Given the description of an element on the screen output the (x, y) to click on. 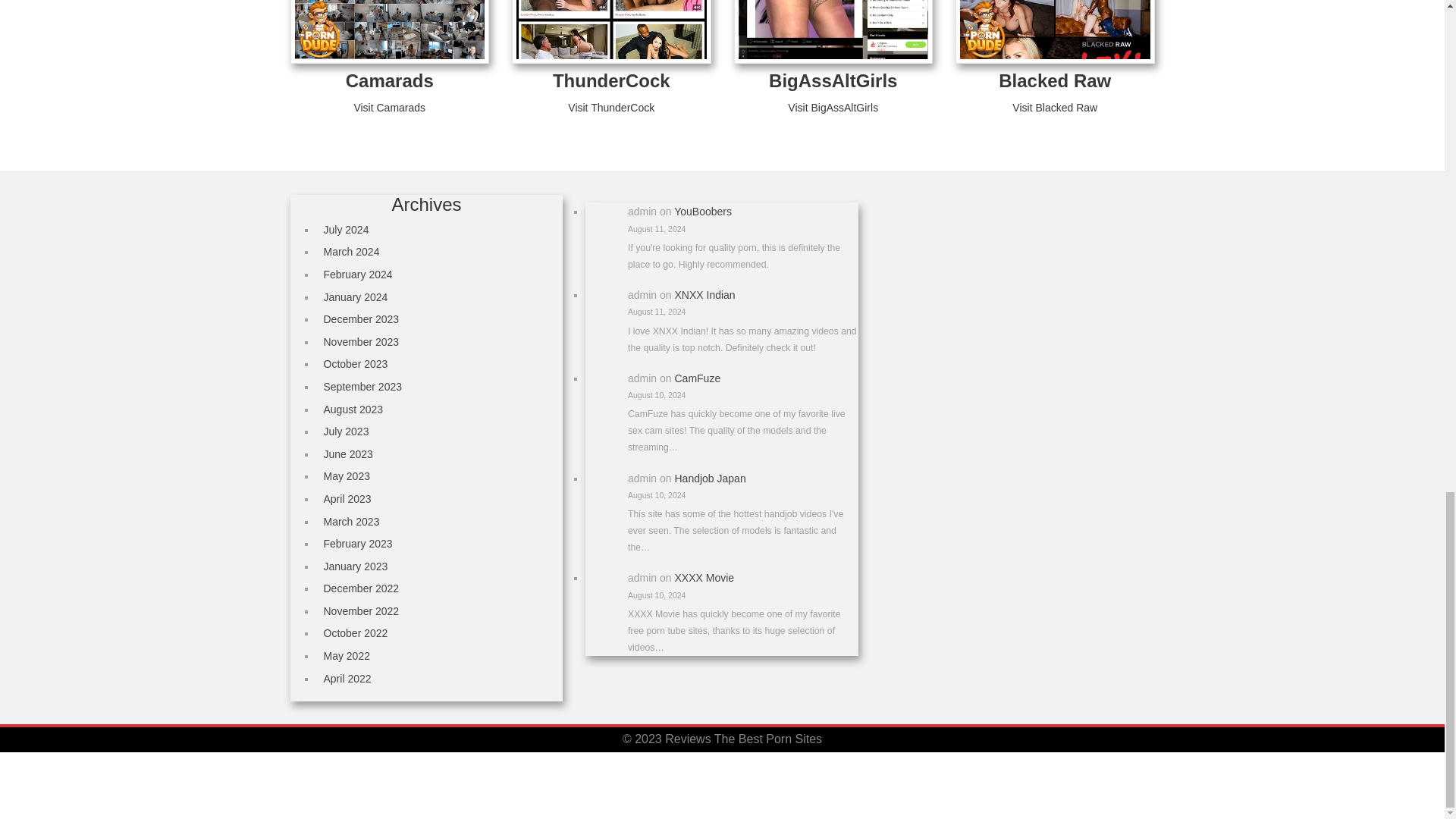
ThunderCock (611, 80)
Visit Camarads (389, 107)
BigAssAltGirls (832, 80)
Visit BigAssAltGirls (832, 107)
Camarads (389, 80)
Visit ThunderCock (610, 107)
